Given the description of an element on the screen output the (x, y) to click on. 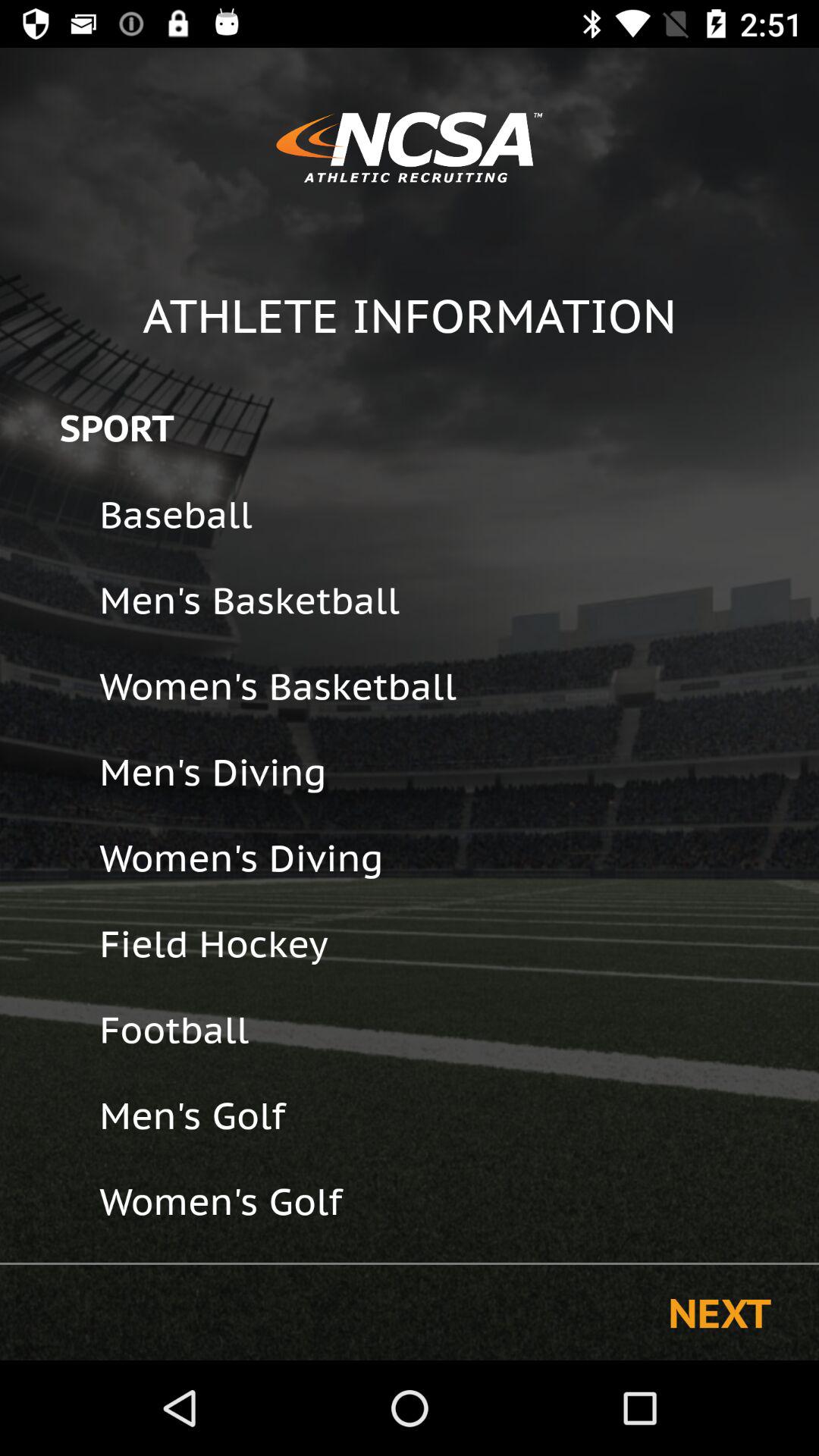
open item at the bottom right corner (719, 1312)
